Given the description of an element on the screen output the (x, y) to click on. 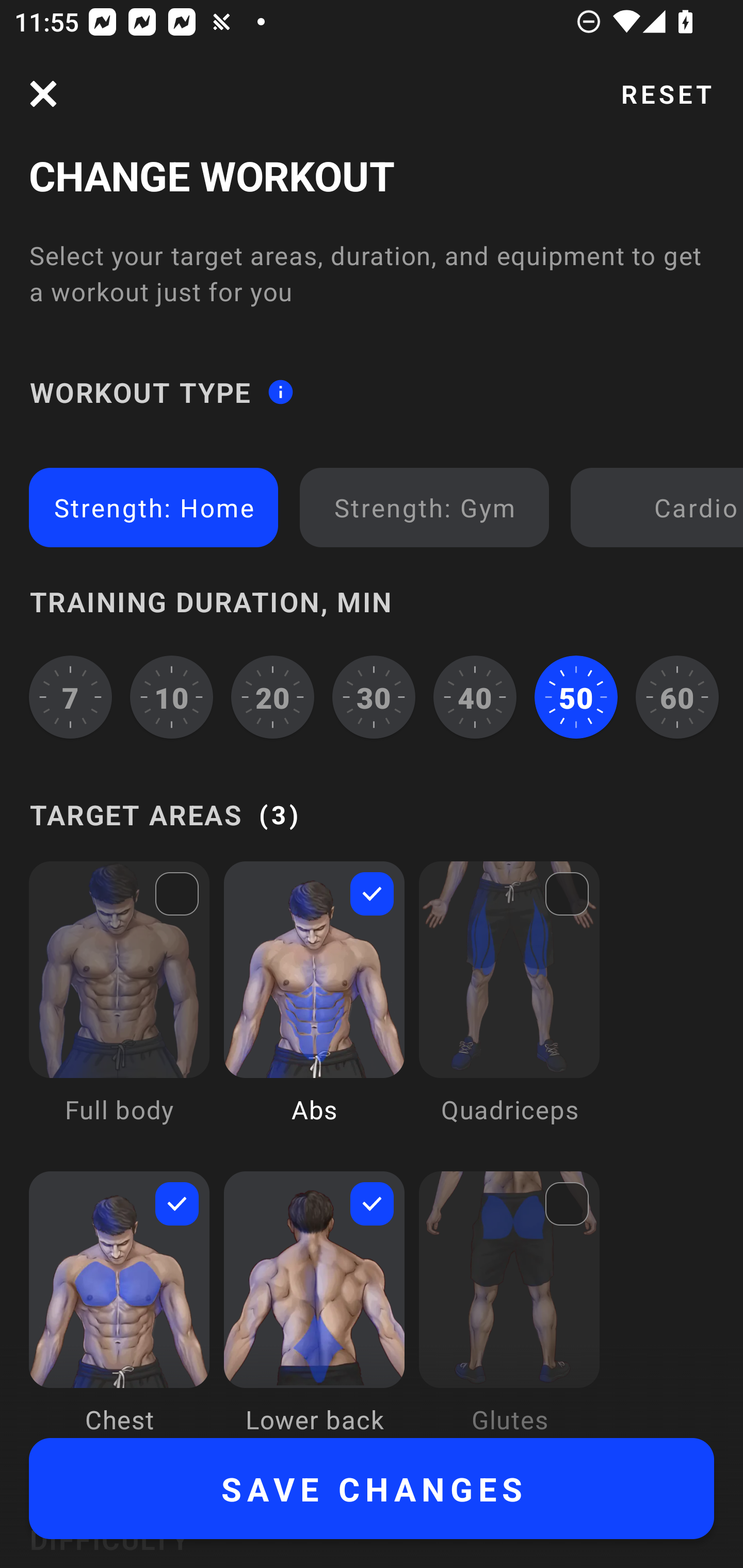
Navigation icon (43, 93)
RESET (666, 93)
Workout type information button (280, 391)
Strength: Gym (423, 507)
Cardio (660, 507)
7 (70, 696)
10 (171, 696)
20 (272, 696)
30 (373, 696)
40 (474, 696)
50 (575, 696)
60 (676, 696)
Full body (118, 1007)
Quadriceps (509, 1007)
Glutes (509, 1304)
SAVE CHANGES (371, 1488)
